Given the description of an element on the screen output the (x, y) to click on. 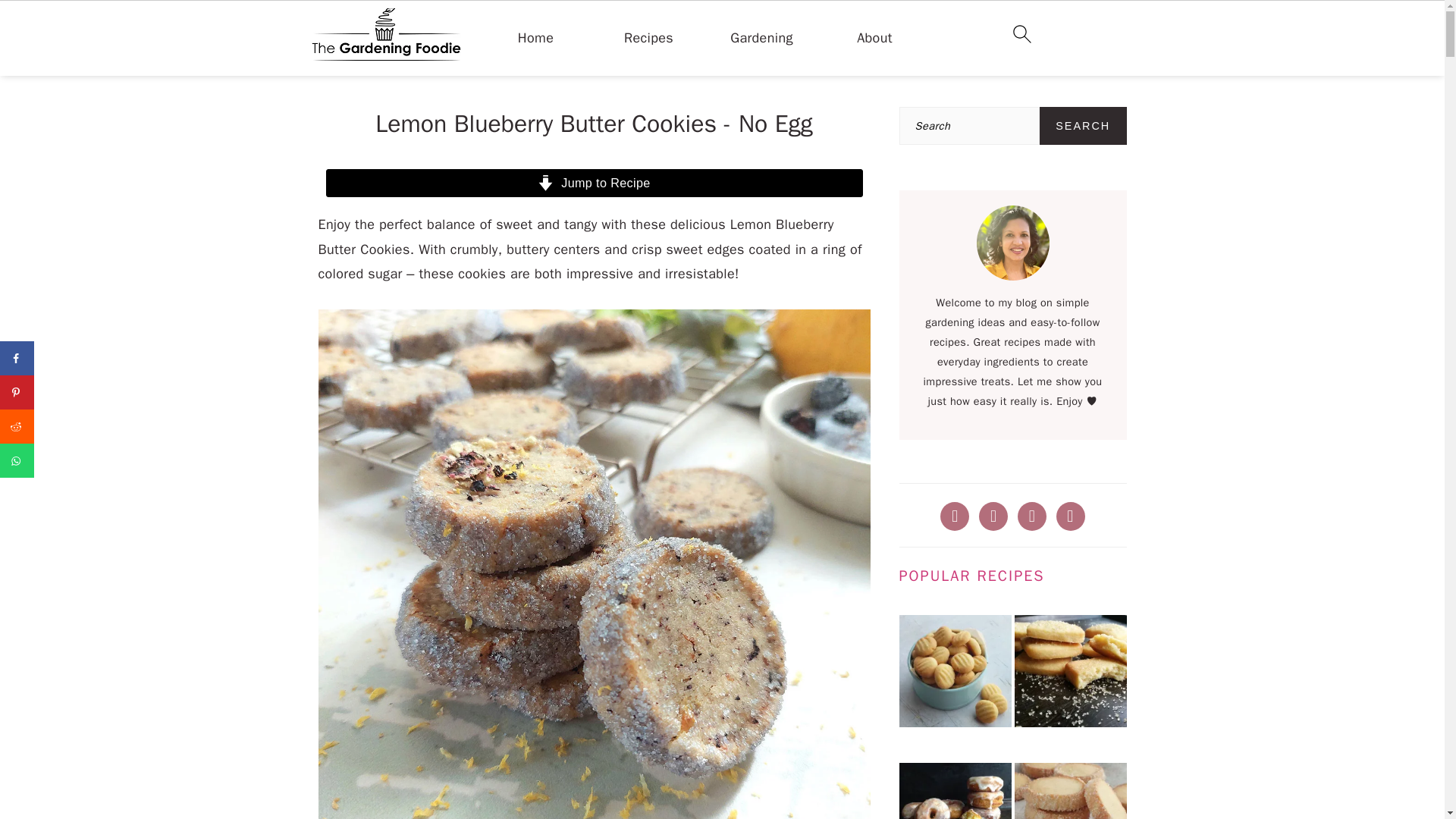
Share on Facebook (16, 358)
Default Label (1070, 514)
French Butter Cookies (1070, 790)
No Yeast Soft Donut Recipe (955, 790)
Instagram (1031, 514)
Jump to Recipe (594, 182)
Gardening (761, 38)
Search (1082, 125)
Home (535, 38)
3 ingredient mini butter cookies (955, 674)
Share on Reddit (16, 426)
search icon (1022, 34)
Share on WhatsApp (16, 460)
3 ingredient Butter Cookies (1070, 674)
Save to Pinterest (16, 392)
